Given the description of an element on the screen output the (x, y) to click on. 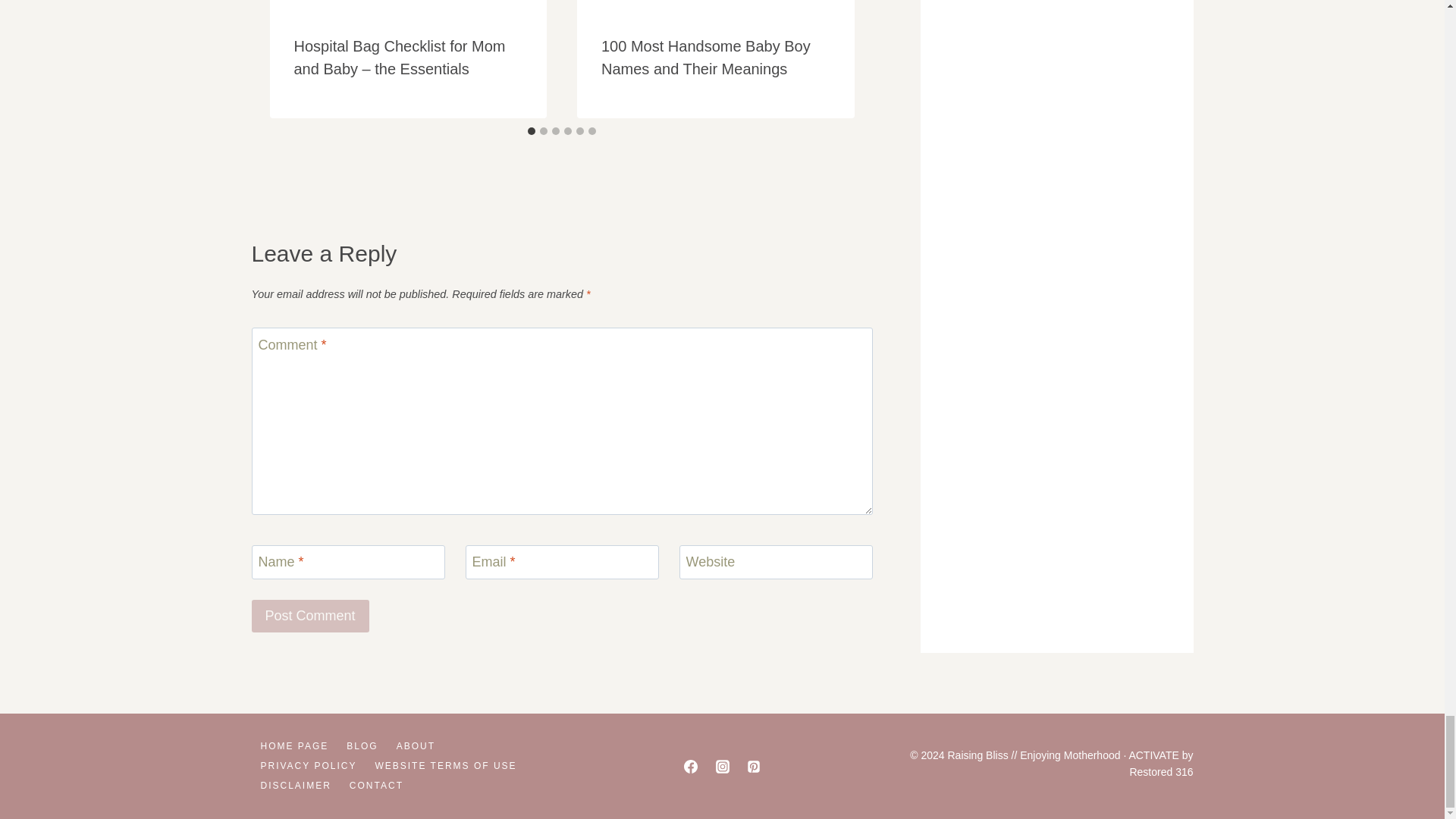
Post Comment (310, 615)
